Given the description of an element on the screen output the (x, y) to click on. 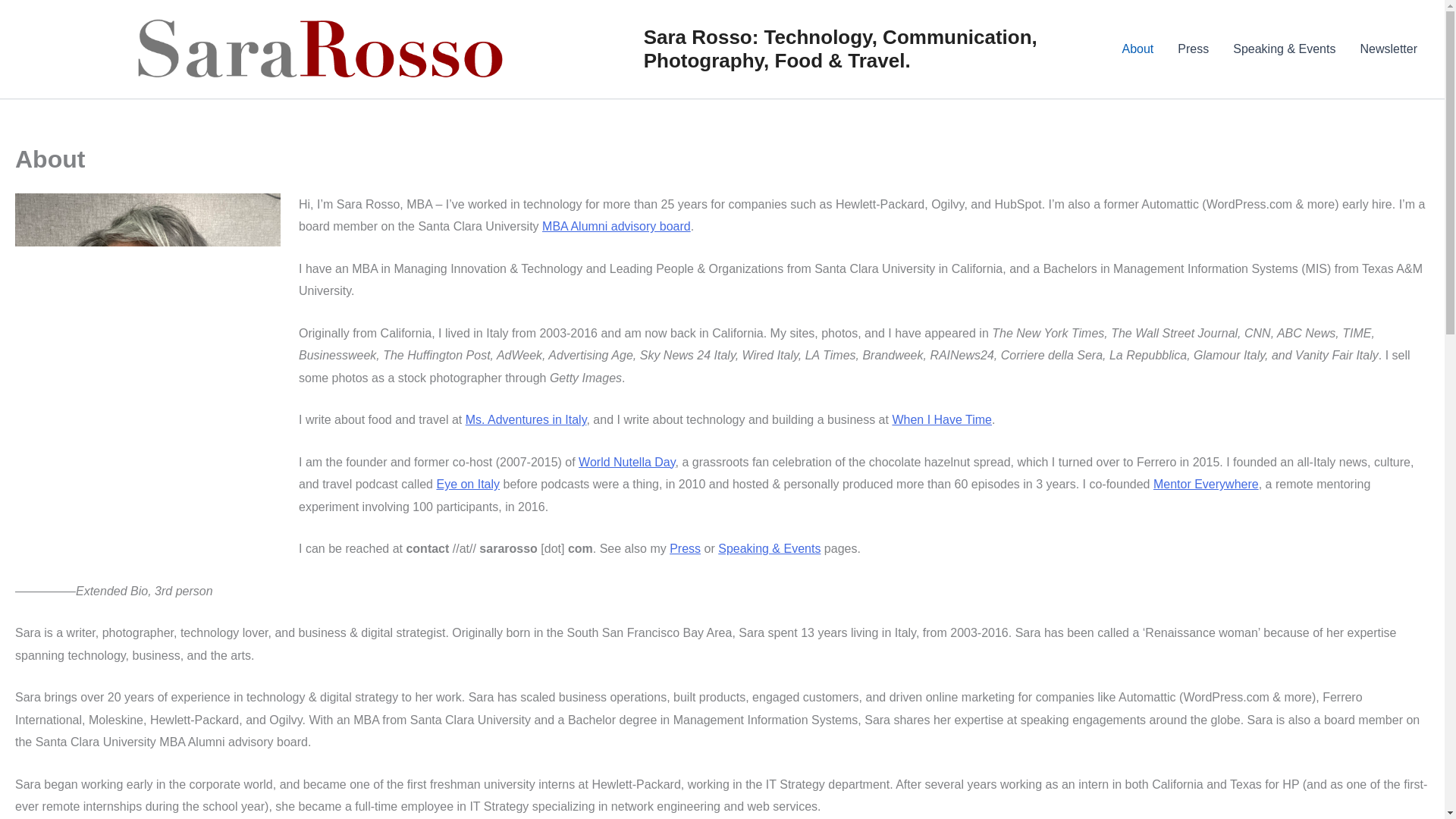
World Nutella Day (626, 461)
Mentor Everywhere (1206, 483)
MBA Alumni advisory board (615, 226)
About (1137, 48)
When I Have Time (941, 419)
Newsletter (1388, 48)
Press (684, 548)
Press (1193, 48)
Ms. Adventures in Italy (525, 419)
Eye on Italy (467, 483)
